Given the description of an element on the screen output the (x, y) to click on. 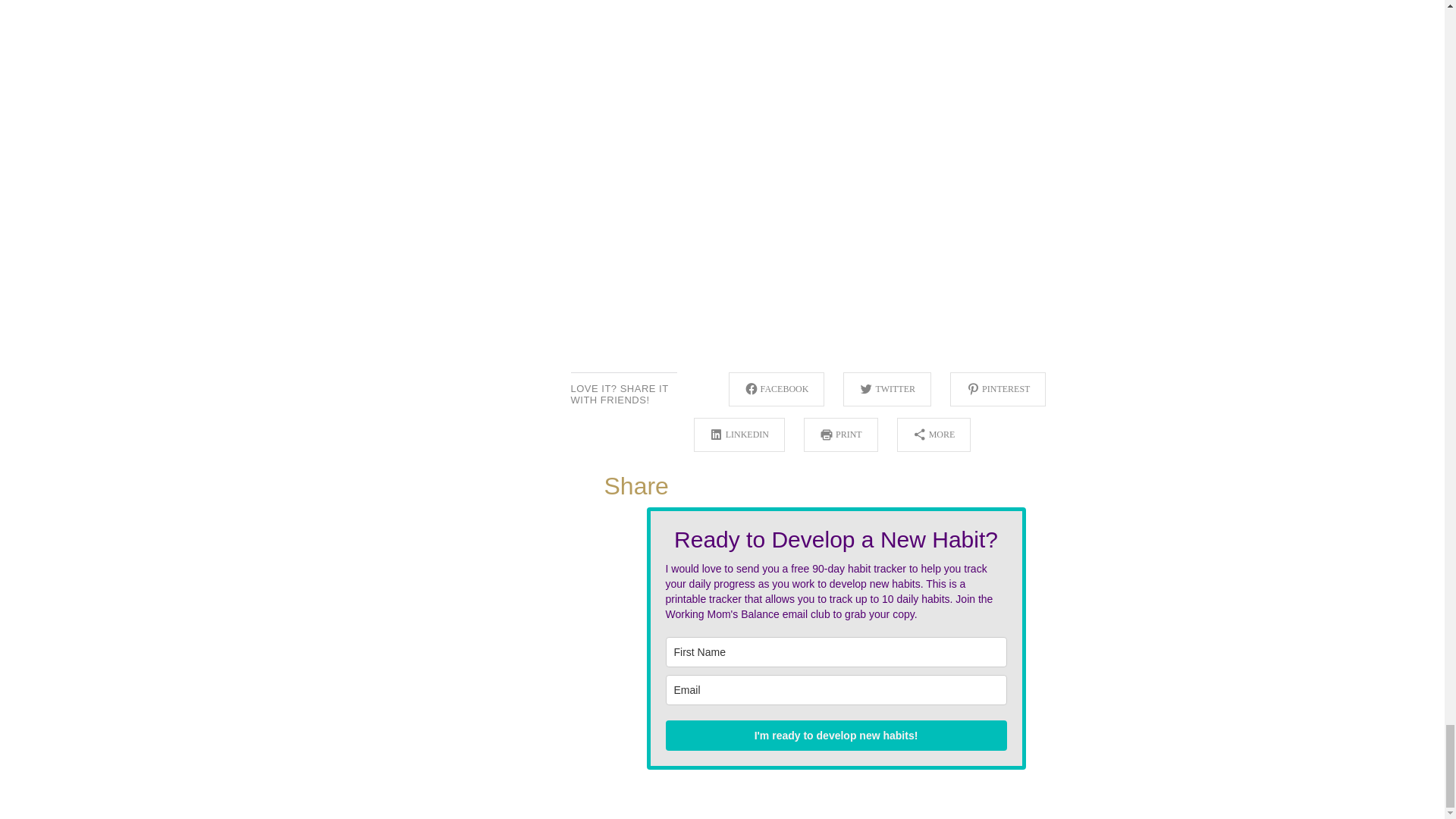
Click to share on LinkedIn (739, 434)
Click to share on Twitter (887, 389)
Click to print (840, 434)
Click to share on Pinterest (997, 389)
FACEBOOK (777, 389)
LINKEDIN (739, 434)
PINTEREST (997, 389)
TWITTER (887, 389)
Click to share on Facebook (777, 389)
